Given the description of an element on the screen output the (x, y) to click on. 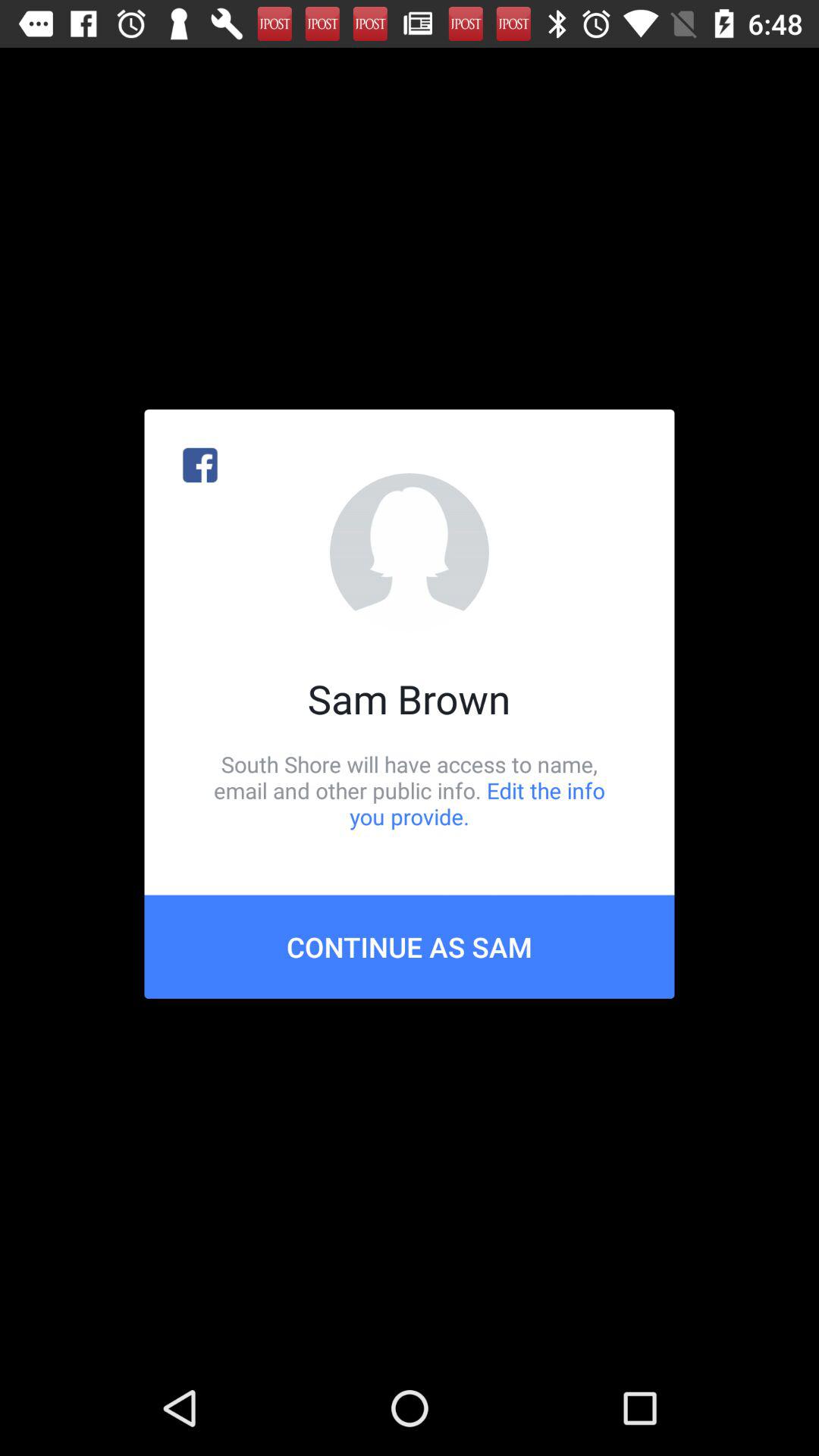
press continue as sam (409, 946)
